Given the description of an element on the screen output the (x, y) to click on. 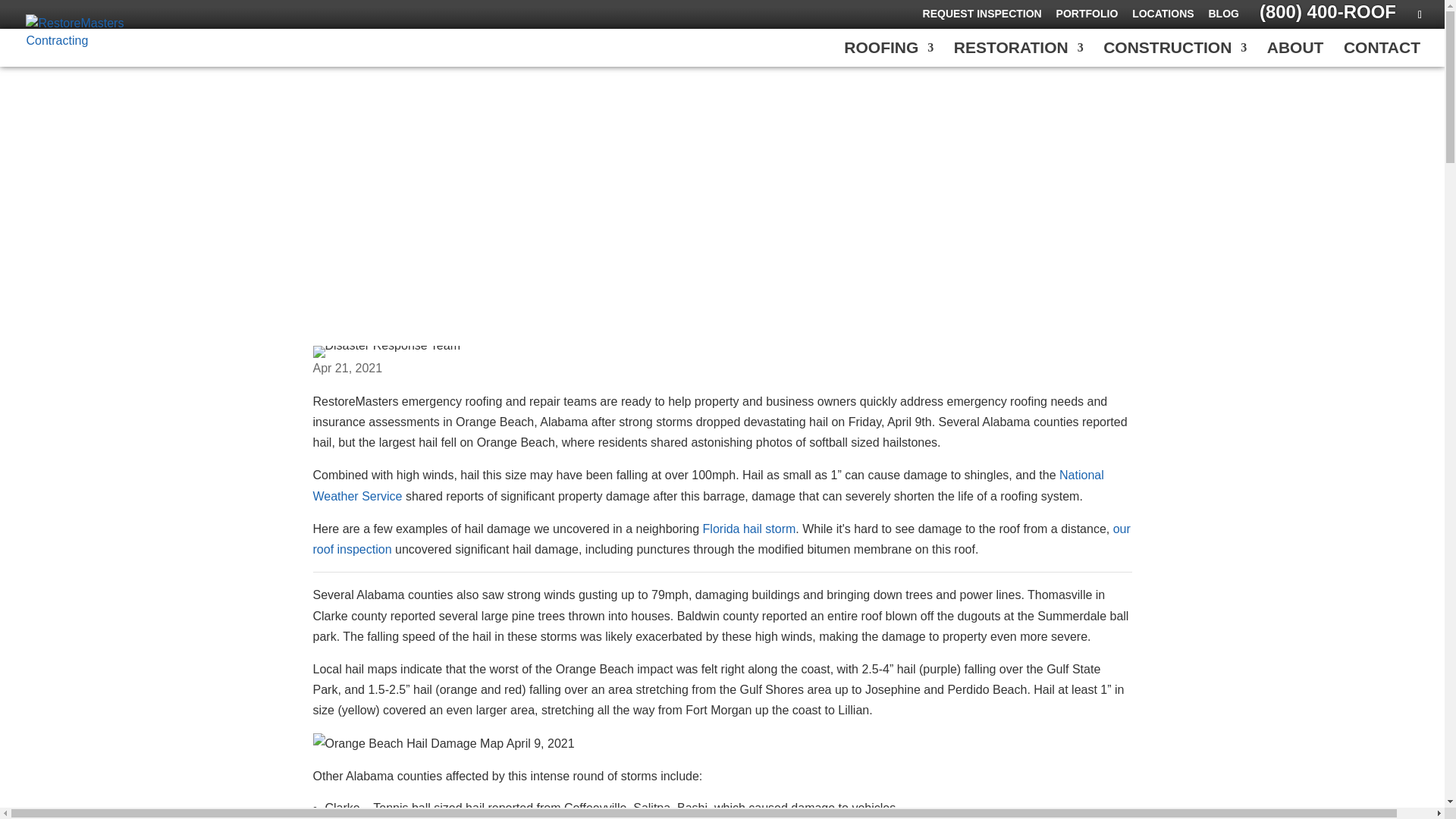
BLOG (1223, 16)
REQUEST INSPECTION (982, 16)
PORTFOLIO (1087, 16)
ROOFING (888, 54)
LOCATIONS (1162, 16)
Disaster Response Team (386, 351)
